Given the description of an element on the screen output the (x, y) to click on. 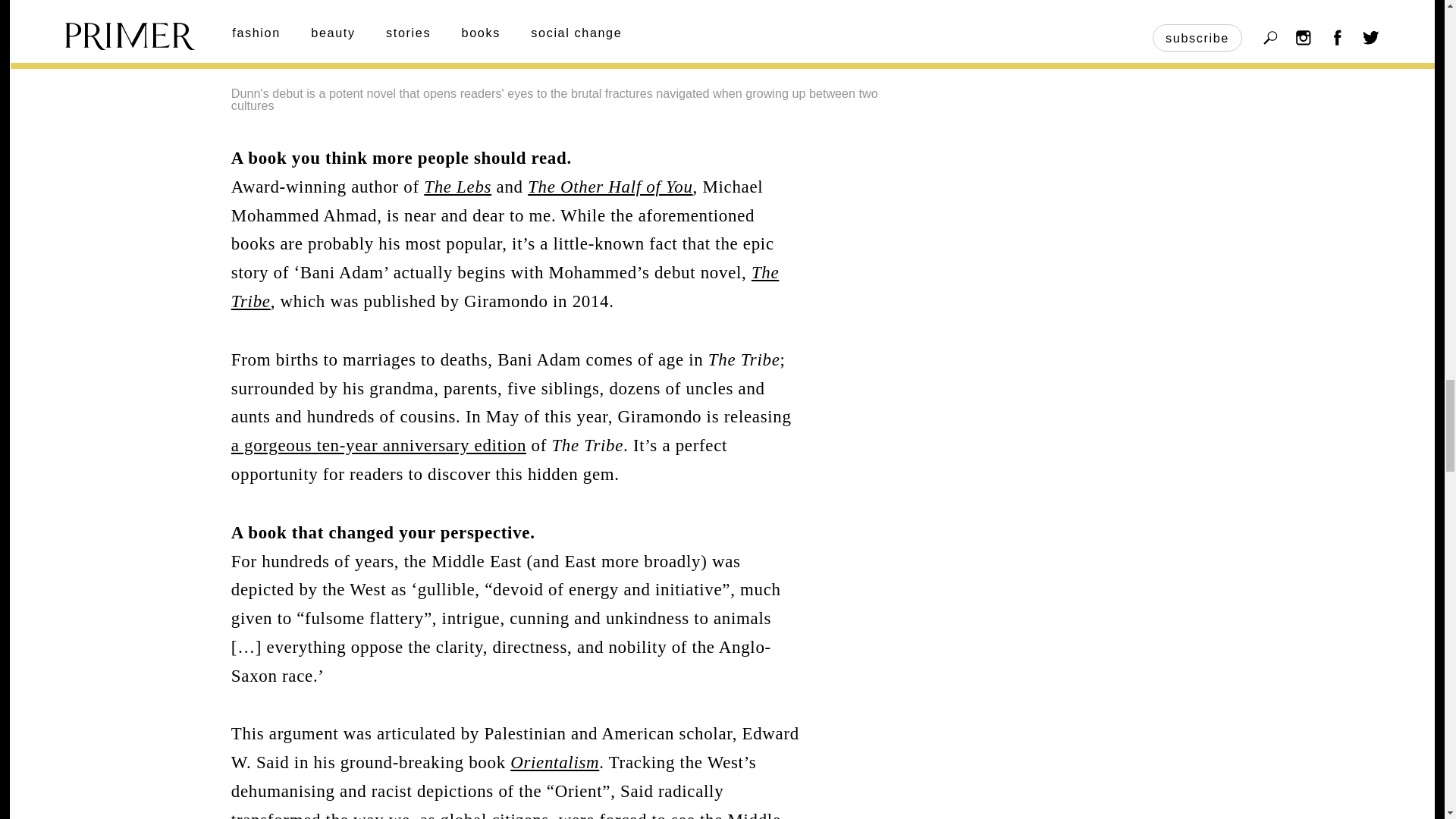
The Lebs (457, 186)
a gorgeous ten-year anniversary edition (378, 445)
The Other Half of You (610, 186)
Orientalism (554, 762)
The Tribe (504, 286)
